Given the description of an element on the screen output the (x, y) to click on. 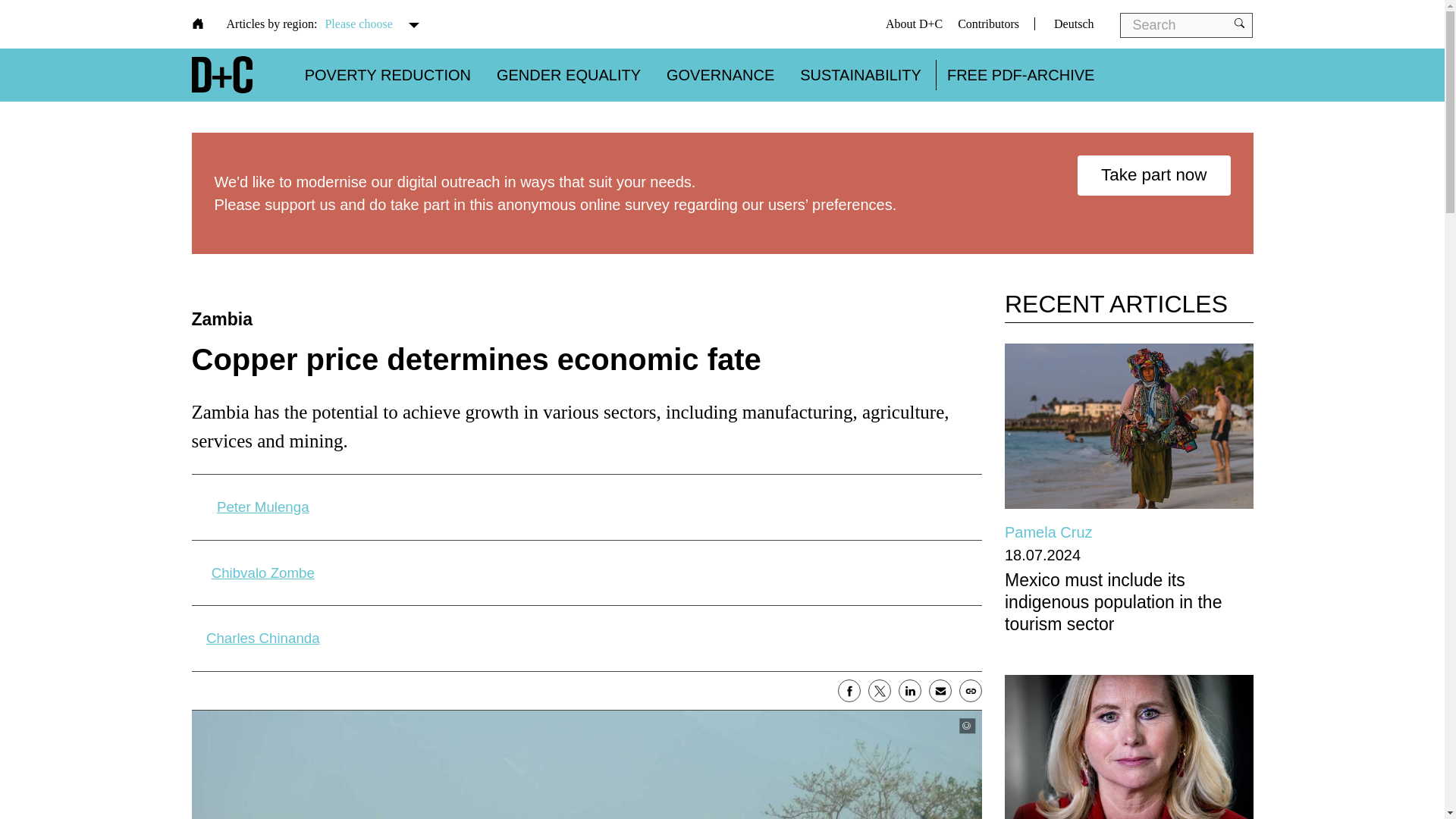
SUSTAINABILITY (860, 74)
Peter Mulenga (262, 506)
facebook (849, 690)
Peter (262, 506)
GENDER EQUALITY (568, 74)
linkedin (909, 690)
FREE PDF-ARCHIVE (1020, 74)
Chibvalo (262, 572)
GOVERNANCE (720, 74)
Take part now (1153, 175)
Charles (262, 638)
Chibvalo Zombe (262, 572)
